Given the description of an element on the screen output the (x, y) to click on. 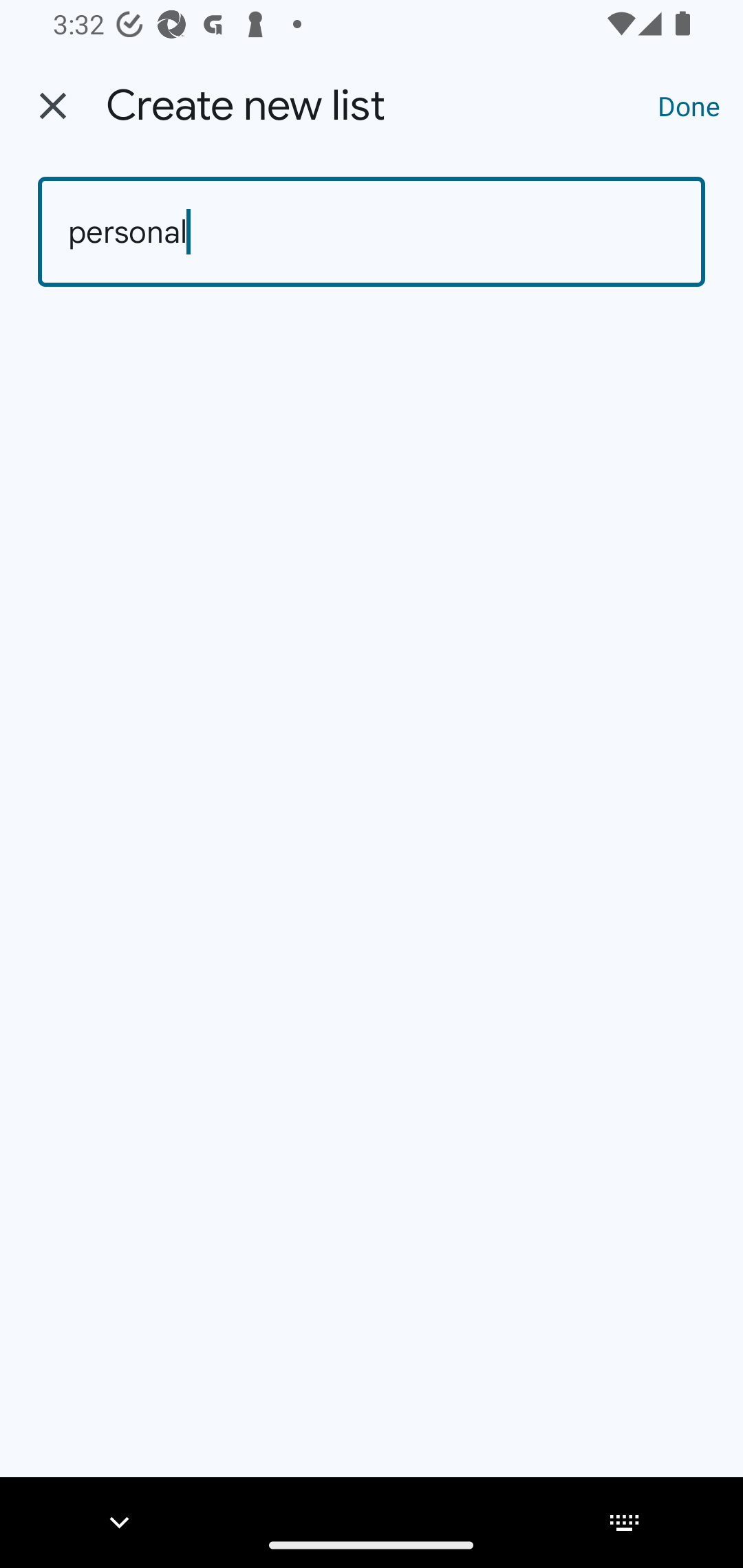
Back (53, 105)
Done (689, 105)
personal (371, 231)
